Given the description of an element on the screen output the (x, y) to click on. 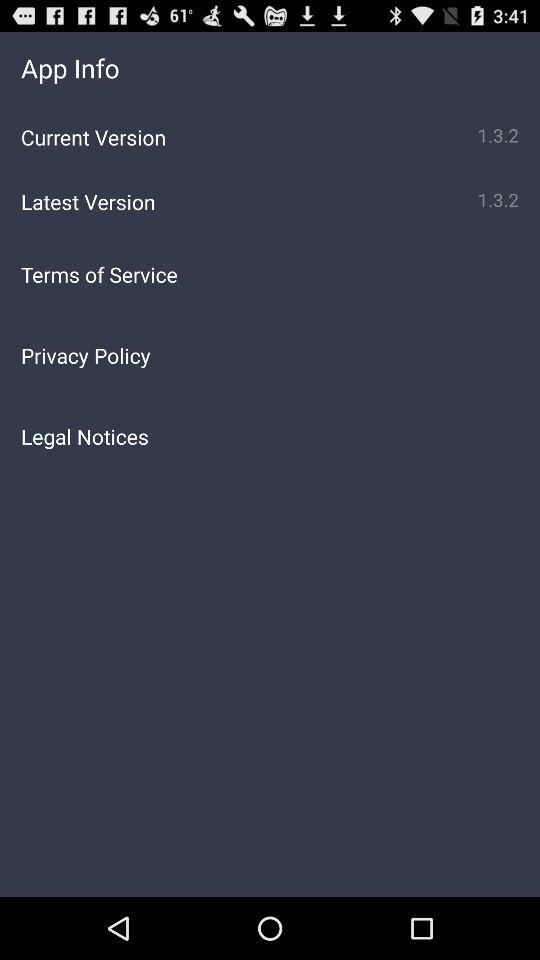
launch the app at the top (270, 274)
